Given the description of an element on the screen output the (x, y) to click on. 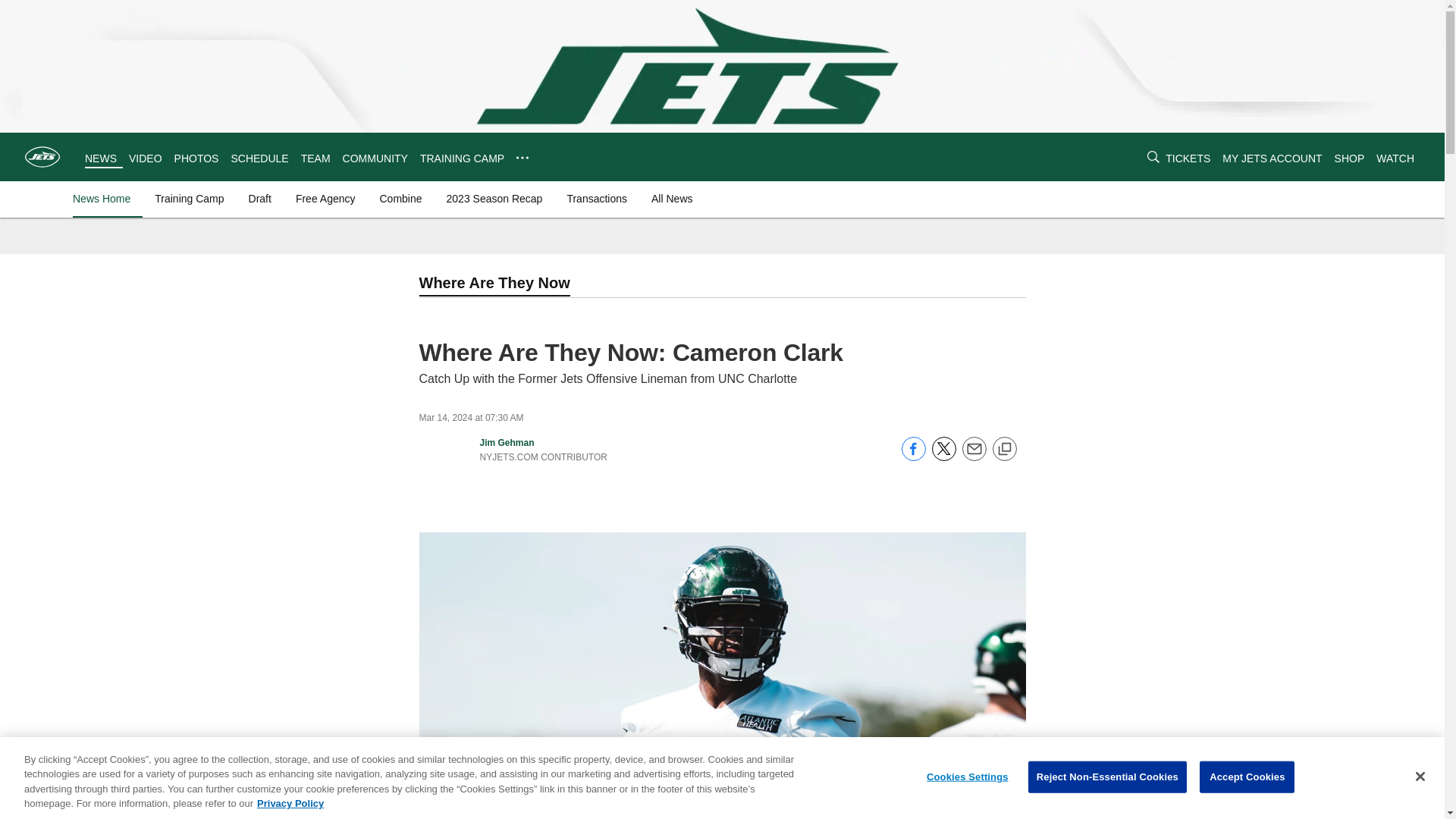
SHOP (1350, 158)
TEAM (315, 158)
SCHEDULE (259, 158)
Training Camp (189, 198)
TEAM (315, 158)
NEWS (100, 158)
All News (671, 198)
Combine (400, 198)
Draft (260, 198)
VIDEO (145, 158)
3rd party ad content (1394, 108)
COMMUNITY (374, 158)
MY JETS ACCOUNT (1272, 158)
TRAINING CAMP (461, 158)
SCHEDULE (259, 158)
